Given the description of an element on the screen output the (x, y) to click on. 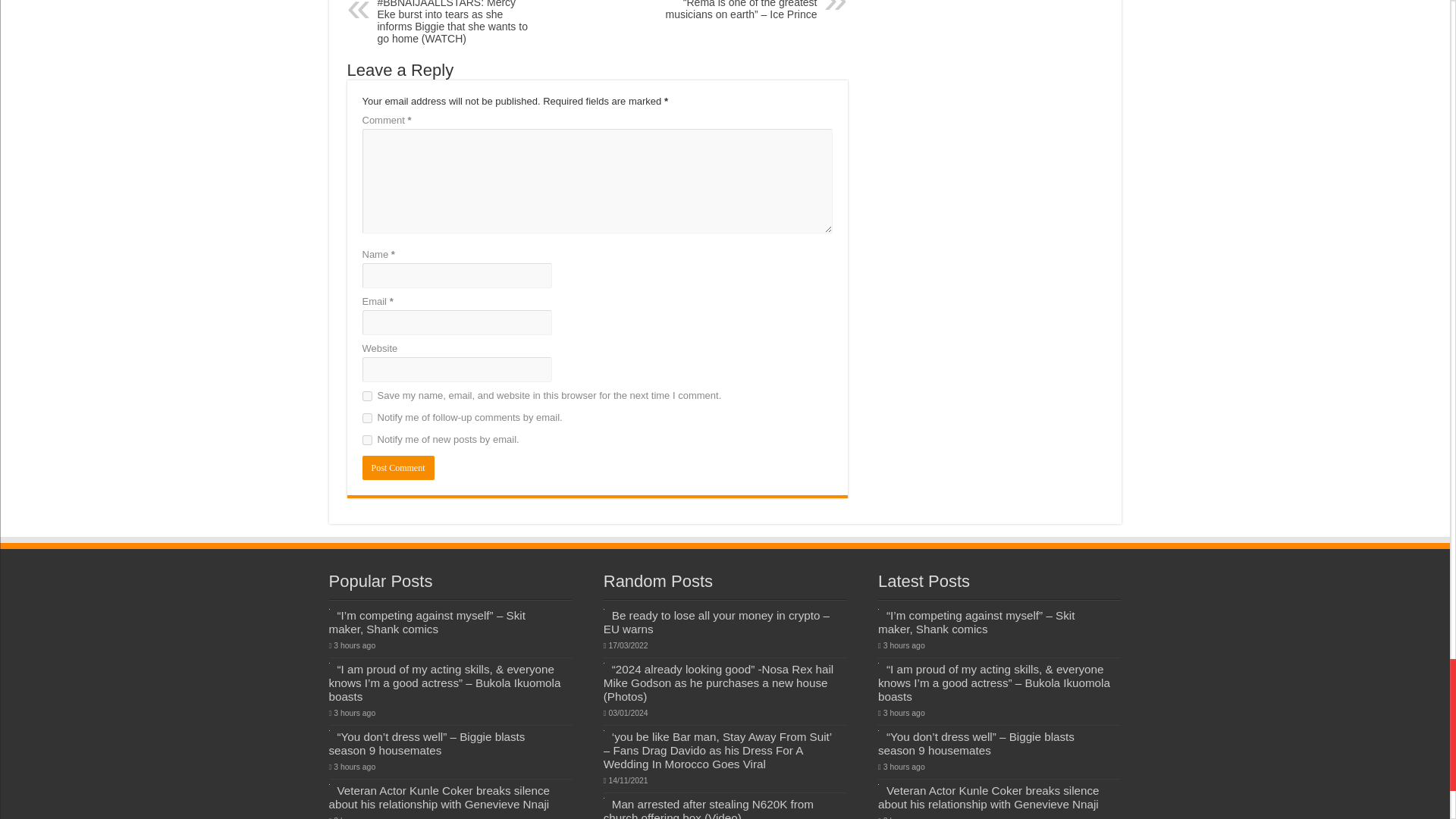
yes (367, 396)
subscribe (367, 418)
subscribe (367, 439)
Post Comment (397, 467)
